Given the description of an element on the screen output the (x, y) to click on. 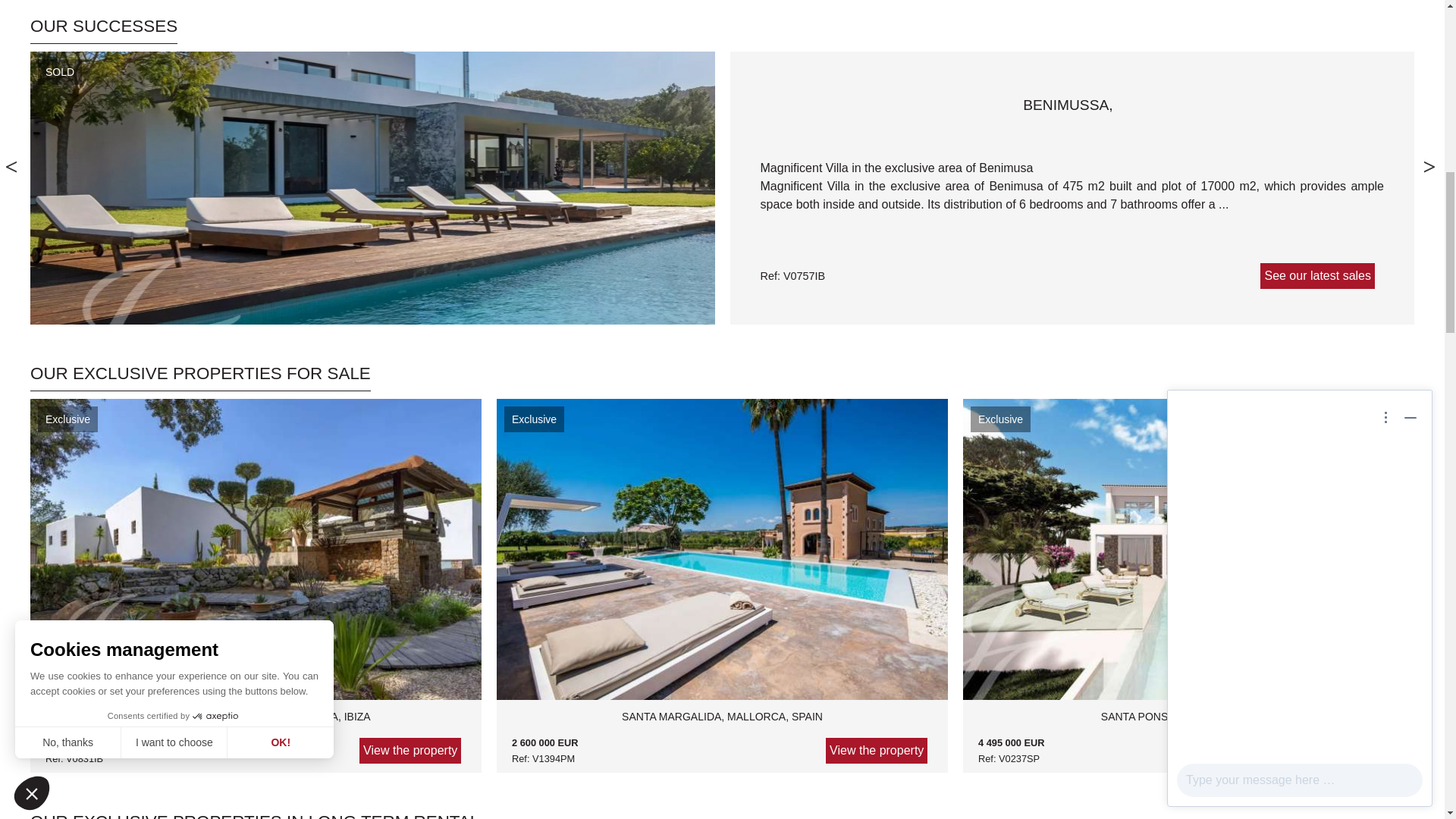
Sale Villa Santa Margalida (722, 731)
Sale House Sant Josep de sa Talaia (255, 731)
Our exclusive properties in long term rental (254, 816)
Sale Villa Santa Ponsa (1188, 731)
LAST SALES (103, 30)
Our exclusive properties for sale (200, 377)
